Given the description of an element on the screen output the (x, y) to click on. 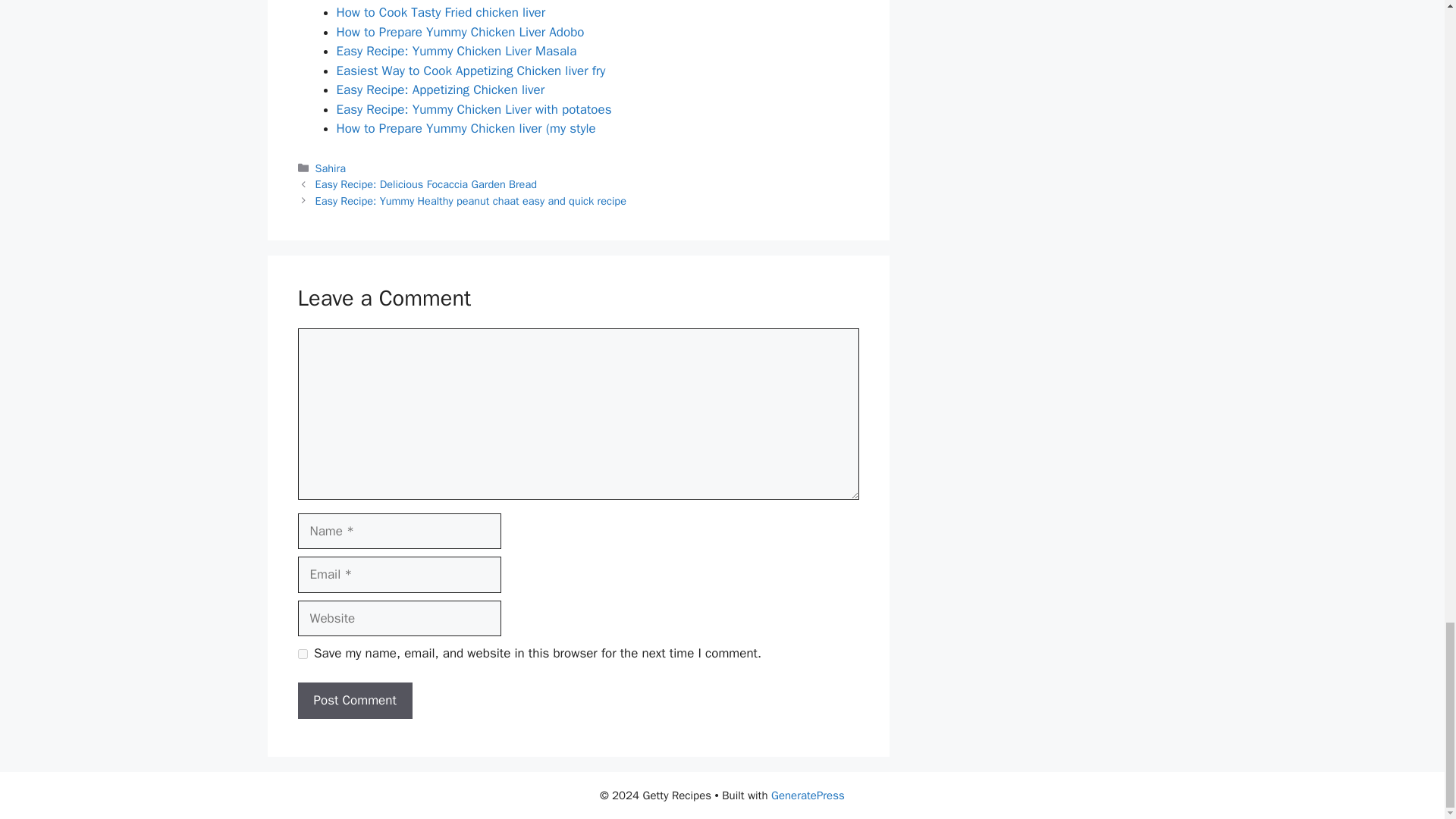
Easy Recipe: Appetizing Chicken liver (440, 89)
Easy Recipe: Delicious Focaccia Garden Bread (426, 183)
Post Comment (354, 700)
Sahira (330, 168)
Easiest Way to Cook Appetizing Chicken liver fry (470, 70)
yes (302, 654)
How to Prepare Yummy Chicken Liver Adobo (460, 32)
Post Comment (354, 700)
Easy Recipe: Yummy Chicken Liver Masala (456, 50)
Easy Recipe: Yummy Chicken Liver with potatoes (473, 109)
How to Cook Tasty Fried chicken liver (441, 12)
